Given the description of an element on the screen output the (x, y) to click on. 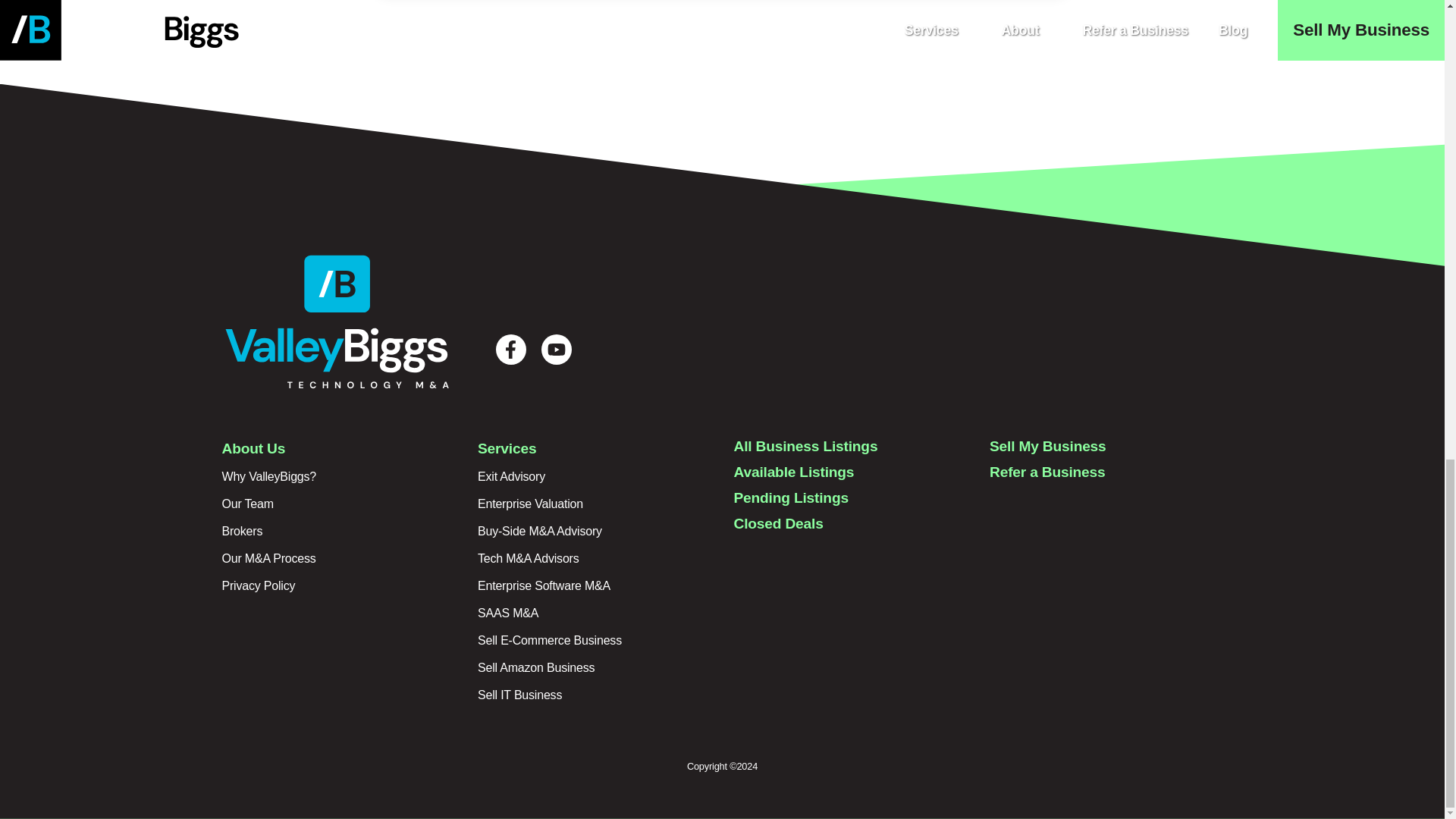
Sell Amazon Business (535, 667)
Brokers (241, 530)
Available Listings (793, 471)
Our Team (247, 503)
Sell IT Business (519, 694)
Privacy Policy (258, 585)
All Business Listings (805, 446)
Enterprise Valuation (530, 503)
Why ValleyBiggs? (268, 476)
Sell E-Commerce Business (549, 640)
Exit Advisory (510, 476)
